Given the description of an element on the screen output the (x, y) to click on. 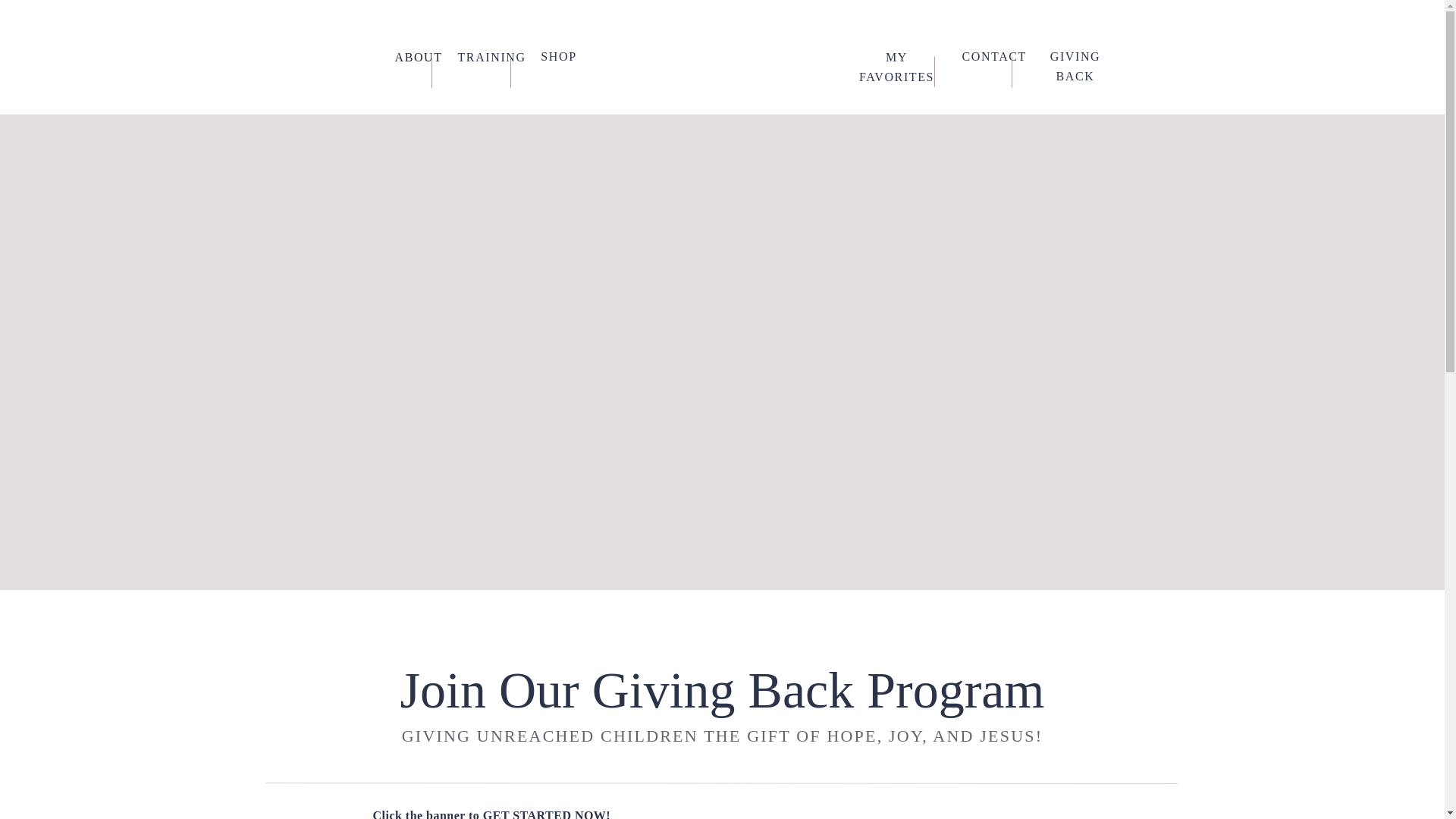
TRAINING (485, 57)
MY FAVORITES (896, 57)
GIVING BACK (1075, 56)
CONTACT (986, 56)
SHOP (558, 56)
ABOUT (414, 57)
